Given the description of an element on the screen output the (x, y) to click on. 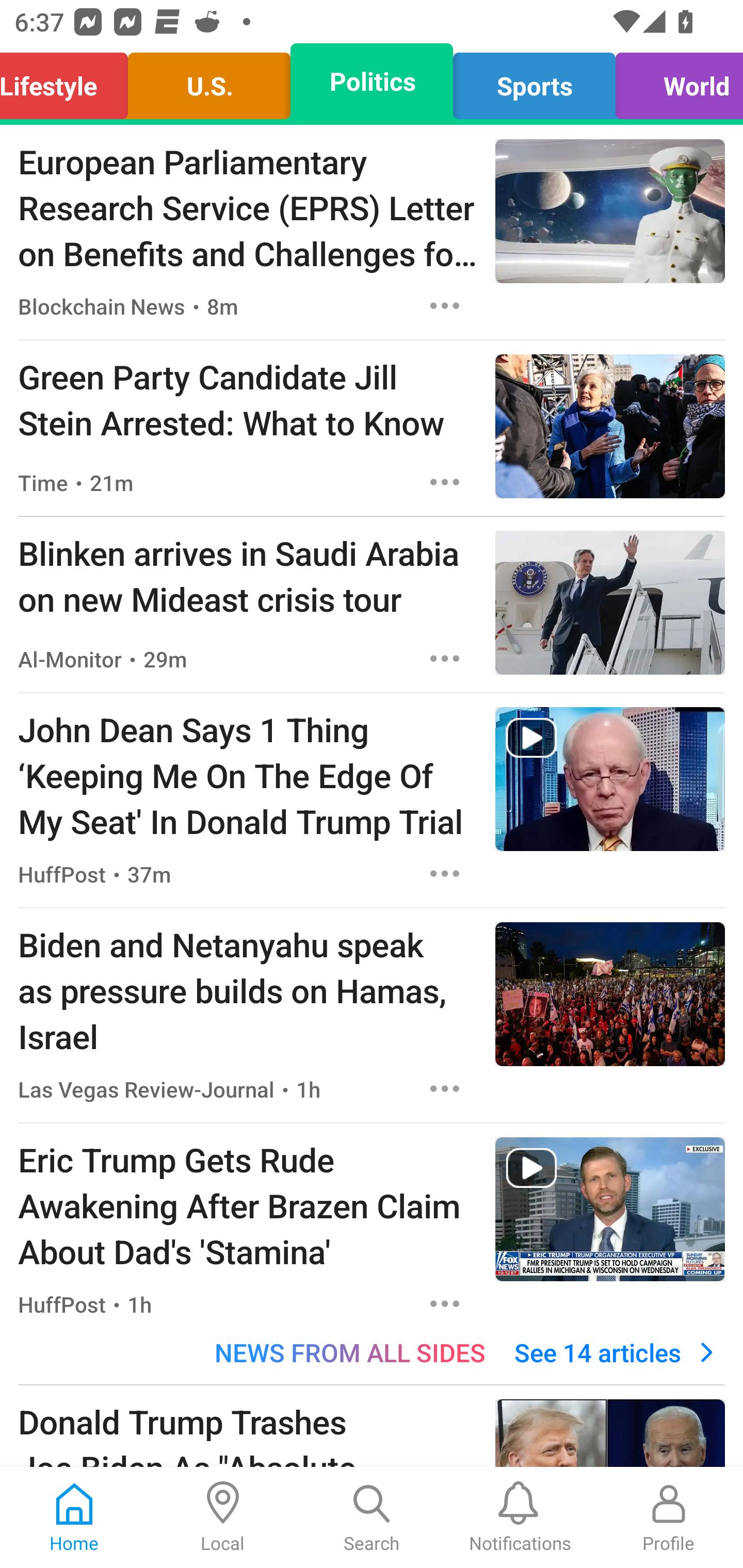
Lifestyle (69, 81)
U.S. (209, 81)
Politics (371, 81)
Sports (534, 81)
World (673, 81)
Options (444, 305)
Options (444, 481)
Options (444, 658)
Options (444, 873)
Options (444, 1088)
Options (444, 1303)
NEWS FROM ALL SIDES See 14 articles (371, 1352)
Local (222, 1517)
Search (371, 1517)
Notifications (519, 1517)
Profile (668, 1517)
